Given the description of an element on the screen output the (x, y) to click on. 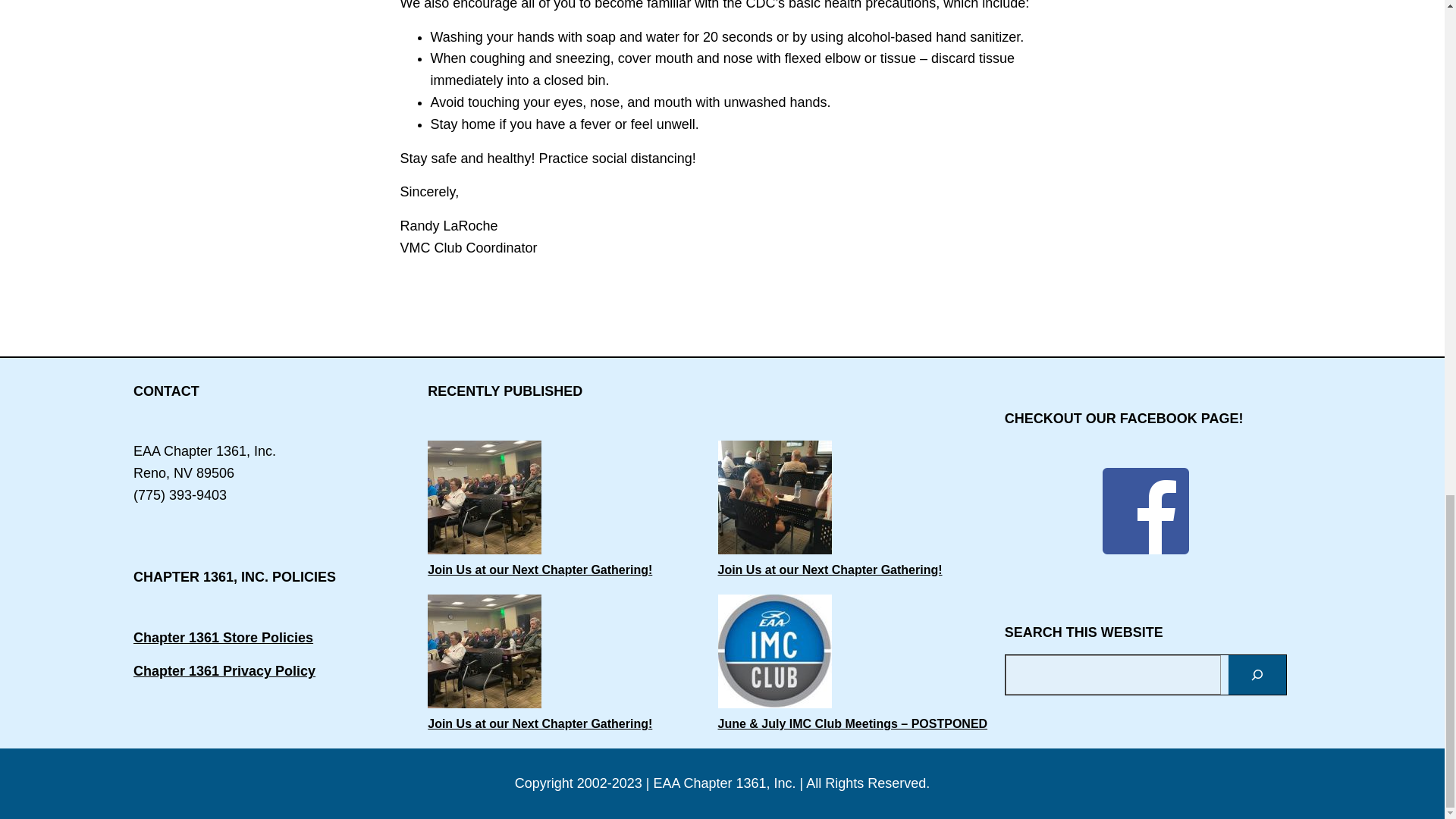
EAA Chapter 1361 Facebook Page (1145, 510)
EAA Chapter 1361 Facebook page (1145, 549)
